Given the description of an element on the screen output the (x, y) to click on. 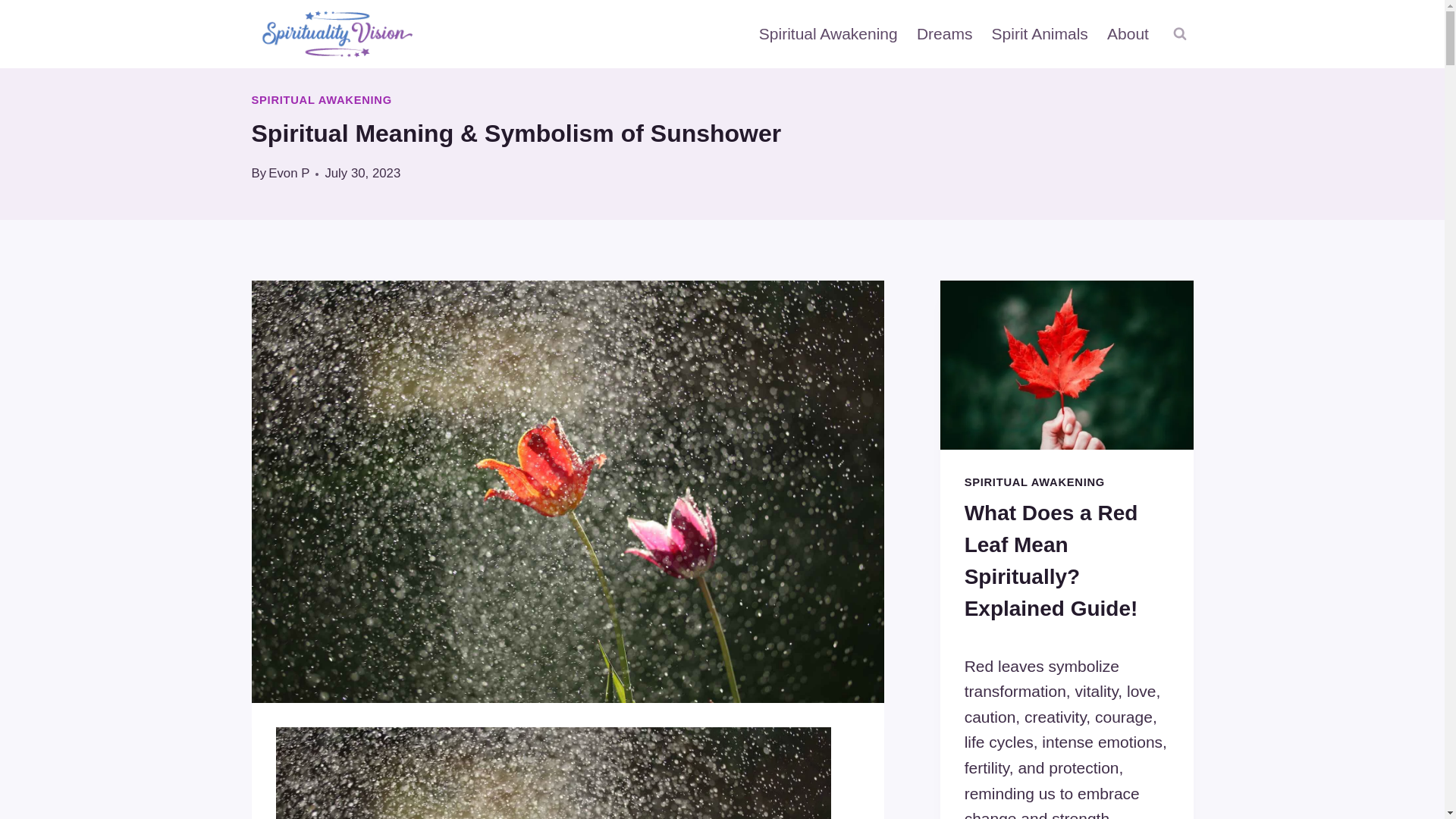
Spiritual Awakening (828, 34)
SPIRITUAL AWAKENING (321, 100)
Evon P (287, 173)
Dreams (944, 34)
Spirit Animals (1039, 34)
About (1127, 34)
